Given the description of an element on the screen output the (x, y) to click on. 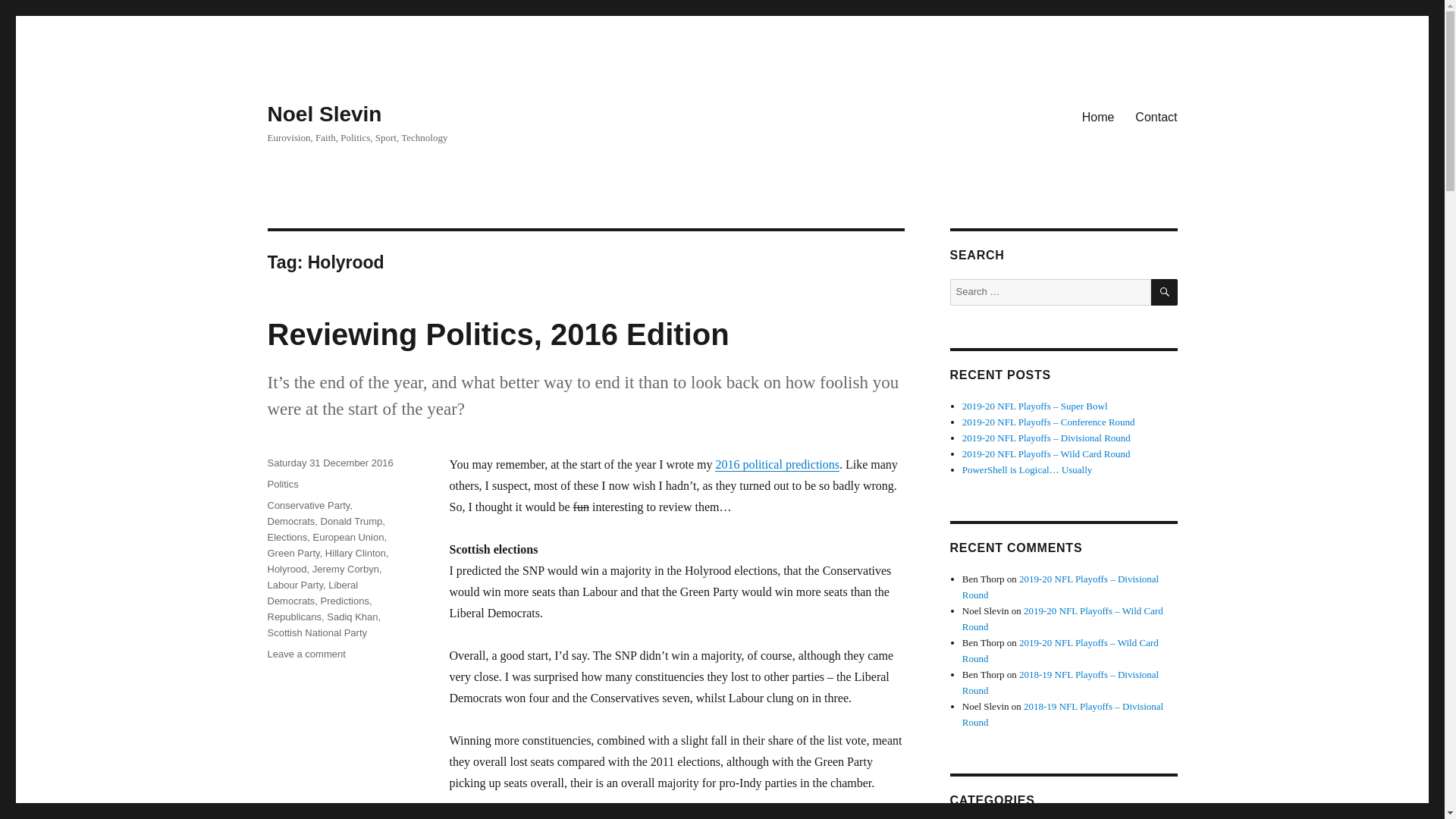
Contact (1156, 116)
2016 political predictions (777, 463)
Green Party (292, 552)
Labour Party (305, 654)
Politics (293, 584)
Republicans (282, 483)
Conservative Party (293, 616)
Democrats (307, 505)
Liberal Democrats (290, 521)
Donald Trump (312, 592)
Noel Slevin (351, 521)
Predictions (323, 114)
Scottish National Party (344, 600)
European Union (316, 632)
